Given the description of an element on the screen output the (x, y) to click on. 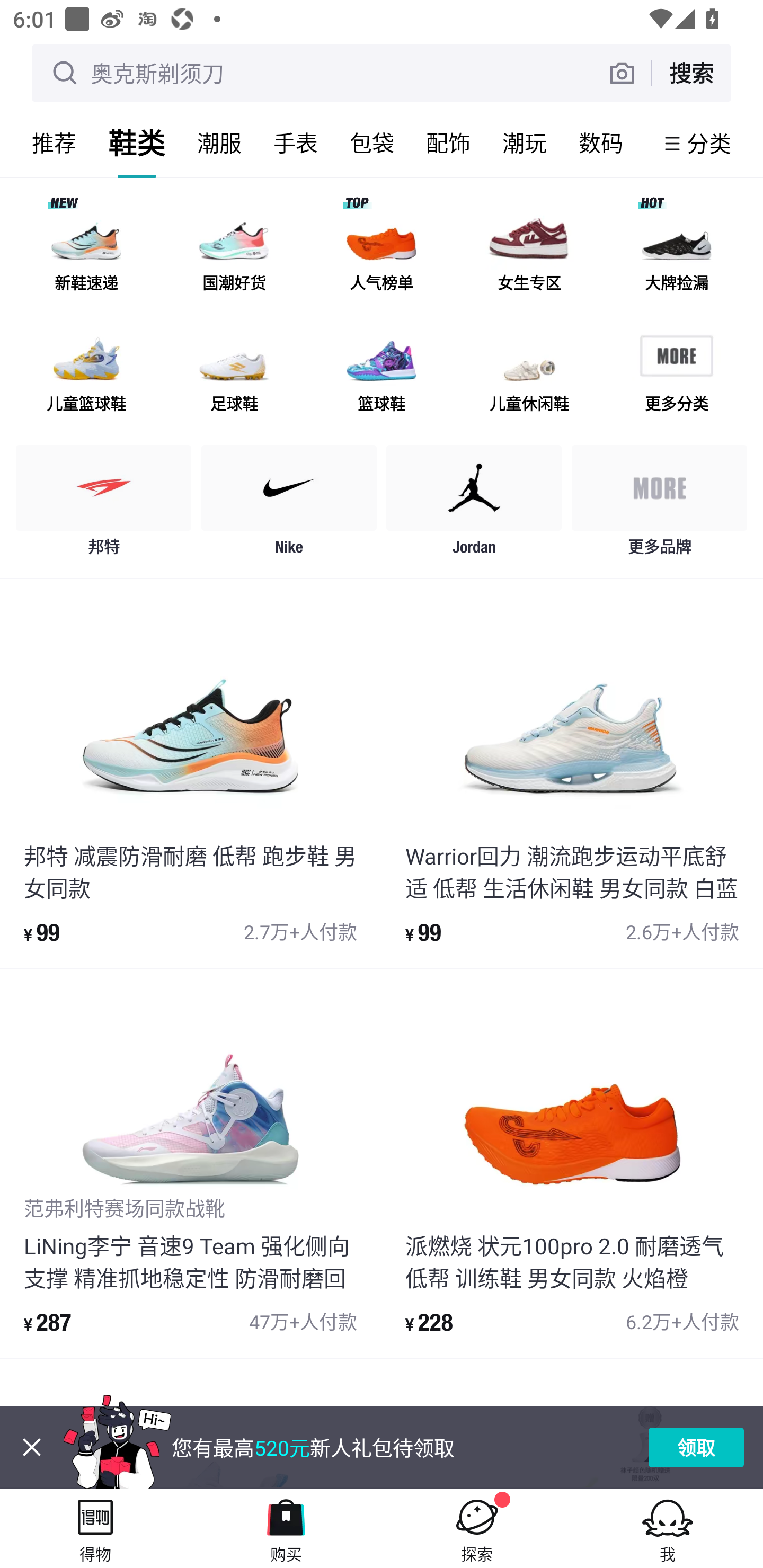
搜索 (690, 72)
推荐 (54, 143)
鞋类 (136, 143)
潮服 (219, 143)
手表 (295, 143)
包袋 (372, 143)
配饰 (448, 143)
潮玩 (524, 143)
数码 (601, 143)
分类 (708, 143)
新鞋速递 (86, 251)
国潮好货 (233, 251)
人气榜单 (381, 251)
女生专区 (528, 251)
大牌捡漏 (676, 251)
儿童篮球鞋 (86, 372)
足球鞋 (233, 372)
篮球鞋 (381, 372)
儿童休闲鞋 (528, 372)
更多分类 (676, 372)
邦特 (103, 505)
Nike (288, 505)
Jordan (473, 505)
更多品牌 (658, 505)
product_item 邦特 减震防滑耐磨 低帮 跑步鞋 男
女同款 ¥ 99 2.7万+人付款 (190, 773)
领取 (695, 1446)
得物 (95, 1528)
购买 (285, 1528)
探索 (476, 1528)
我 (667, 1528)
